Given the description of an element on the screen output the (x, y) to click on. 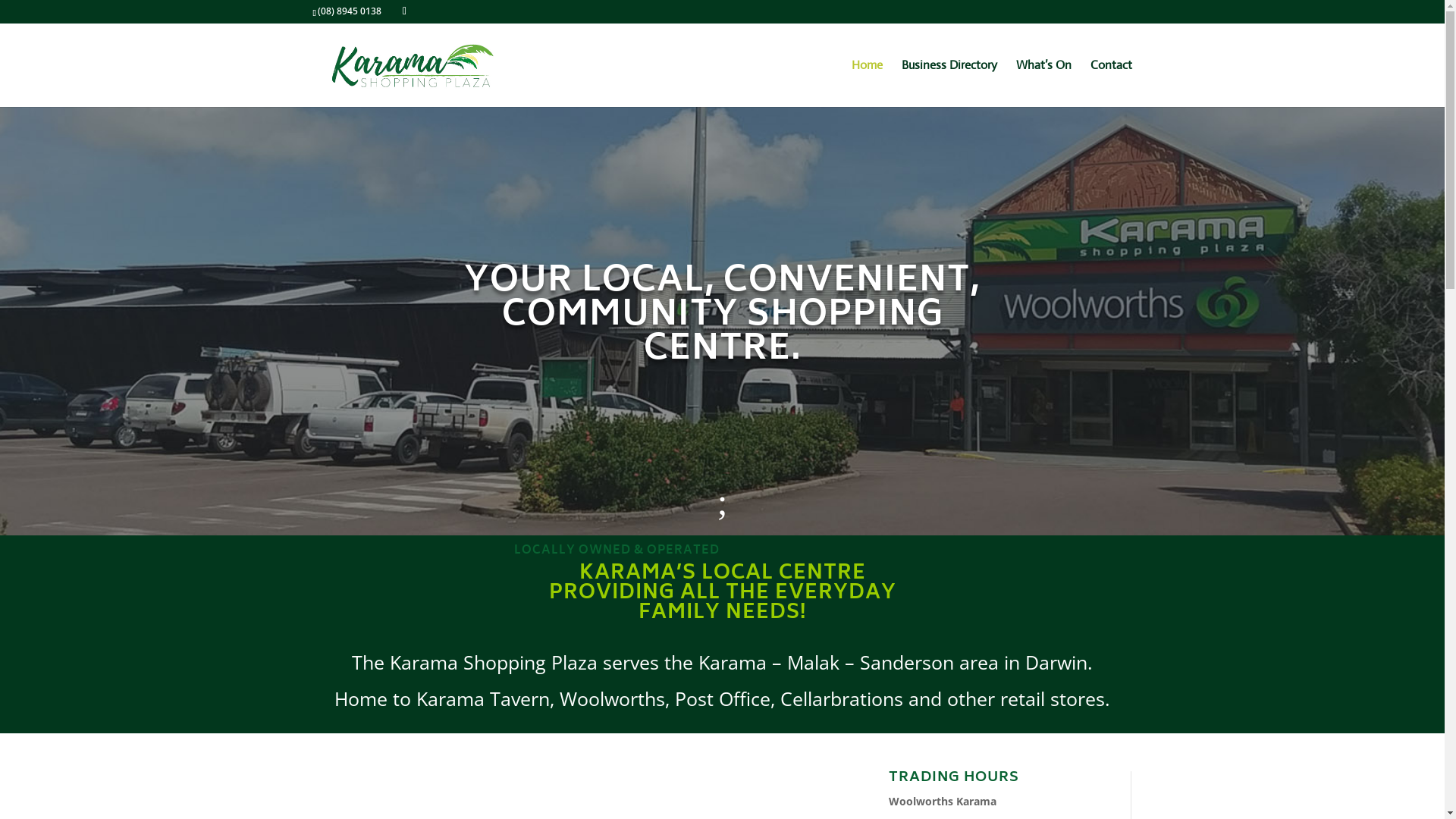
Contact Element type: text (1111, 82)
Business Directory Element type: text (948, 82)
Woolworths Karama Element type: text (942, 800)
; Element type: text (722, 501)
Home Element type: text (865, 82)
